Given the description of an element on the screen output the (x, y) to click on. 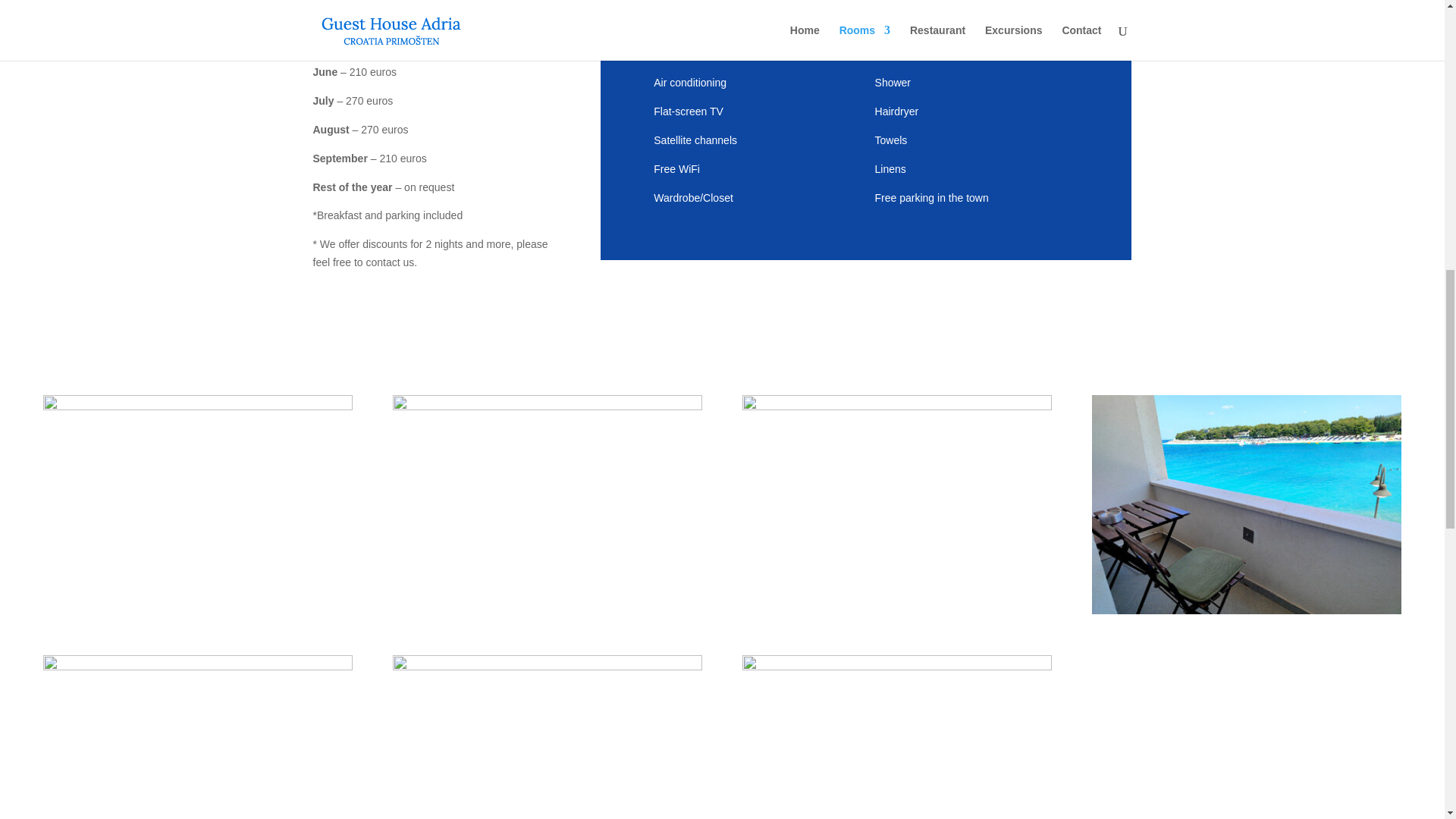
primosten-adria-room-5-2 (197, 406)
primosten-guest-house-adria-room-5-8 (896, 406)
primosten-adria-room-5-4 (547, 666)
primosten-adria-room-5-6 (547, 406)
primosten-adria-room-5-1 (1246, 610)
primosten-adria-room-5-3 (896, 666)
primosten-guest-house-adria-room-5-7 (197, 666)
